Given the description of an element on the screen output the (x, y) to click on. 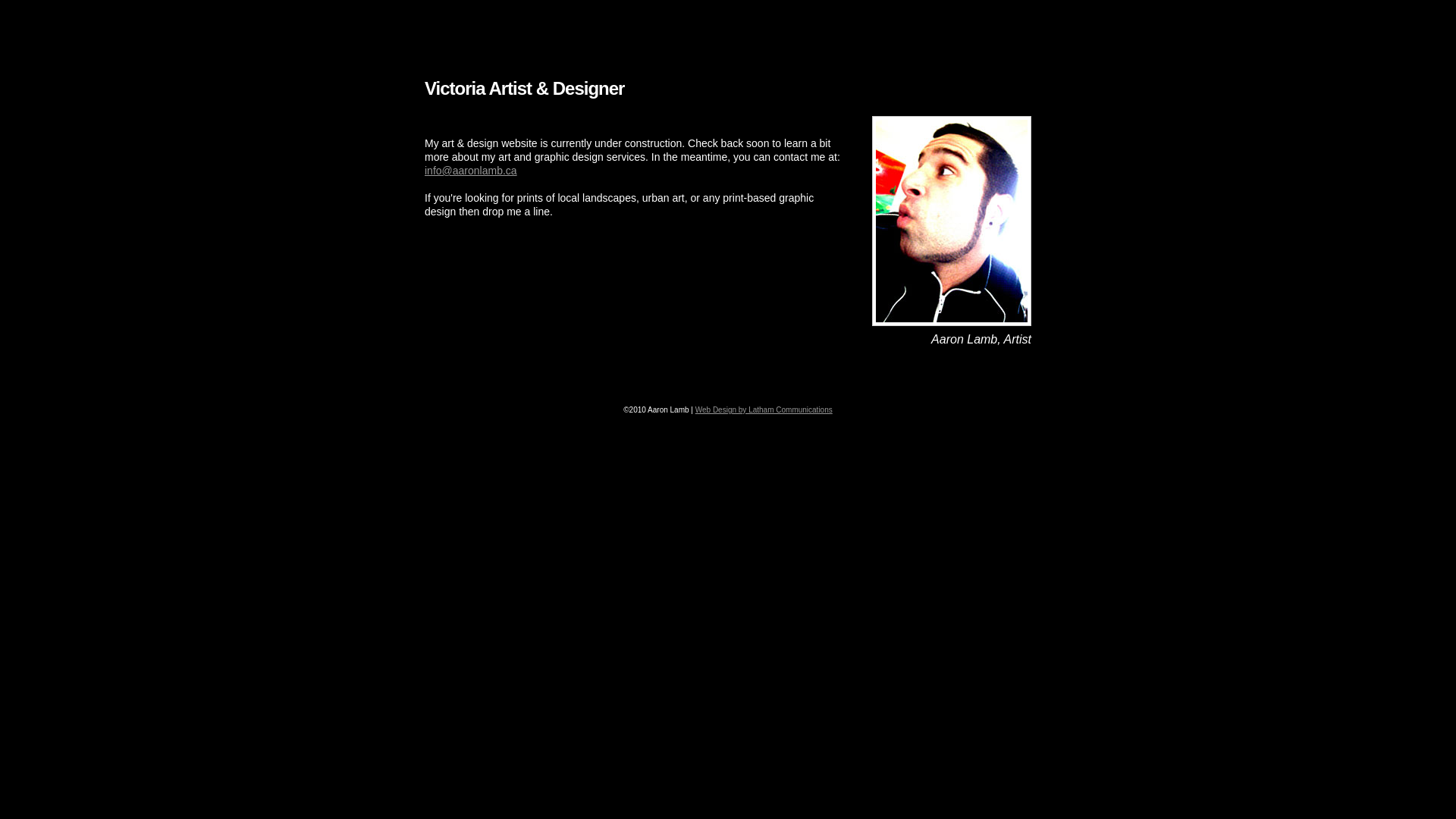
Web Design by Latham Communications Element type: text (763, 409)
info@aaronlamb.ca Element type: text (470, 170)
